Given the description of an element on the screen output the (x, y) to click on. 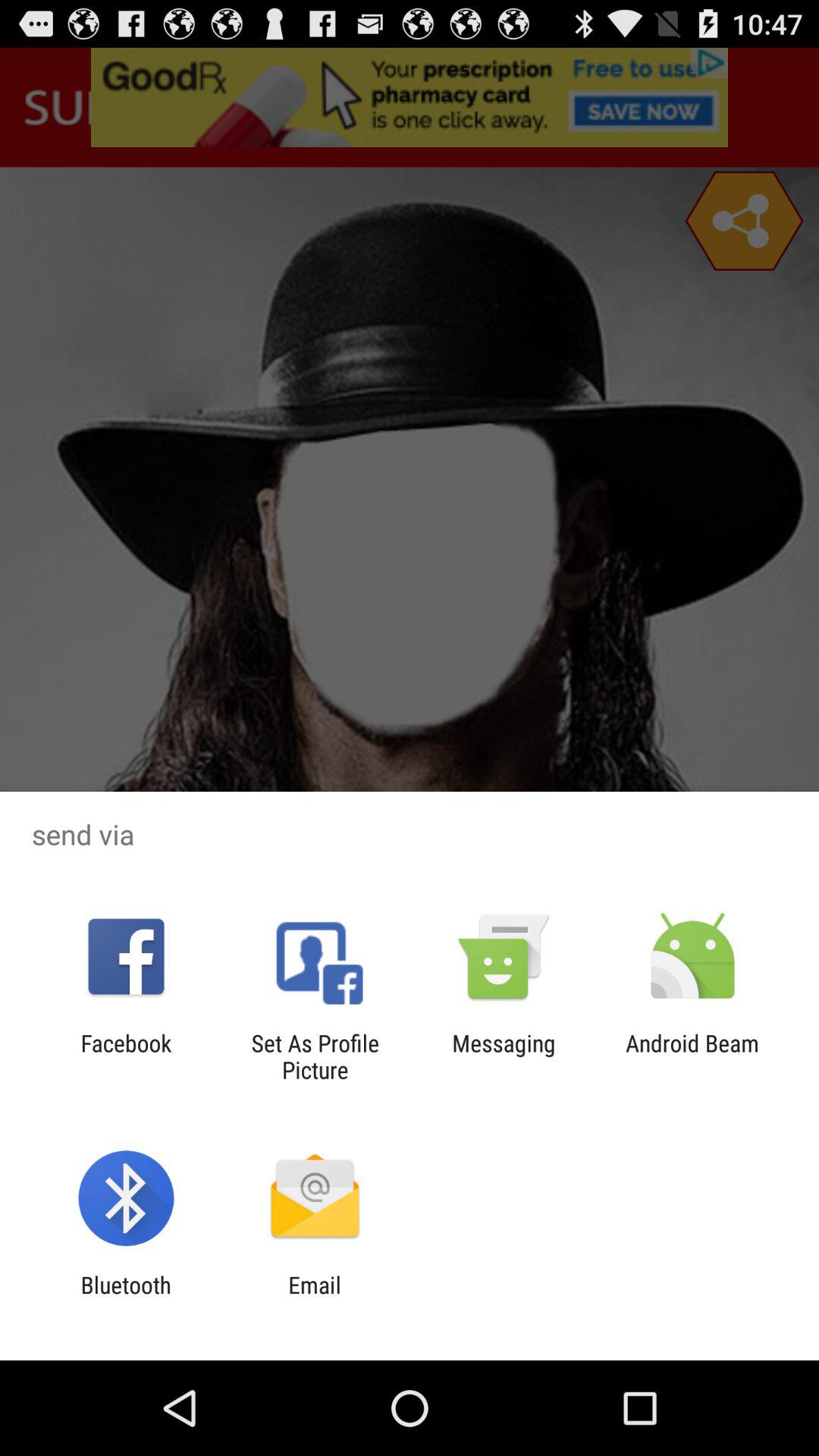
launch facebook icon (125, 1056)
